Given the description of an element on the screen output the (x, y) to click on. 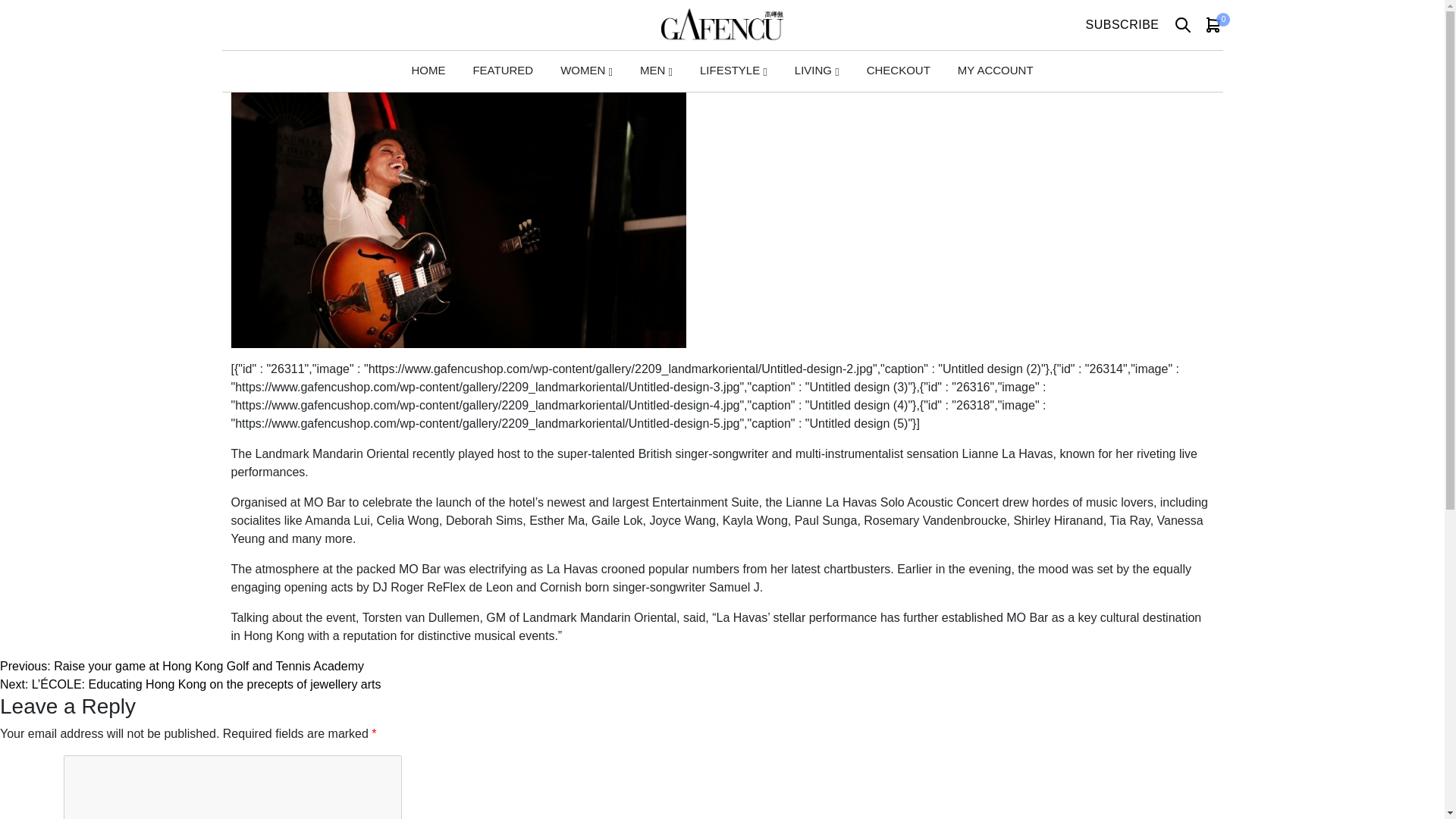
SUBSCRIBE (1122, 24)
0 (1213, 24)
View your shopping cart (1213, 24)
